Given the description of an element on the screen output the (x, y) to click on. 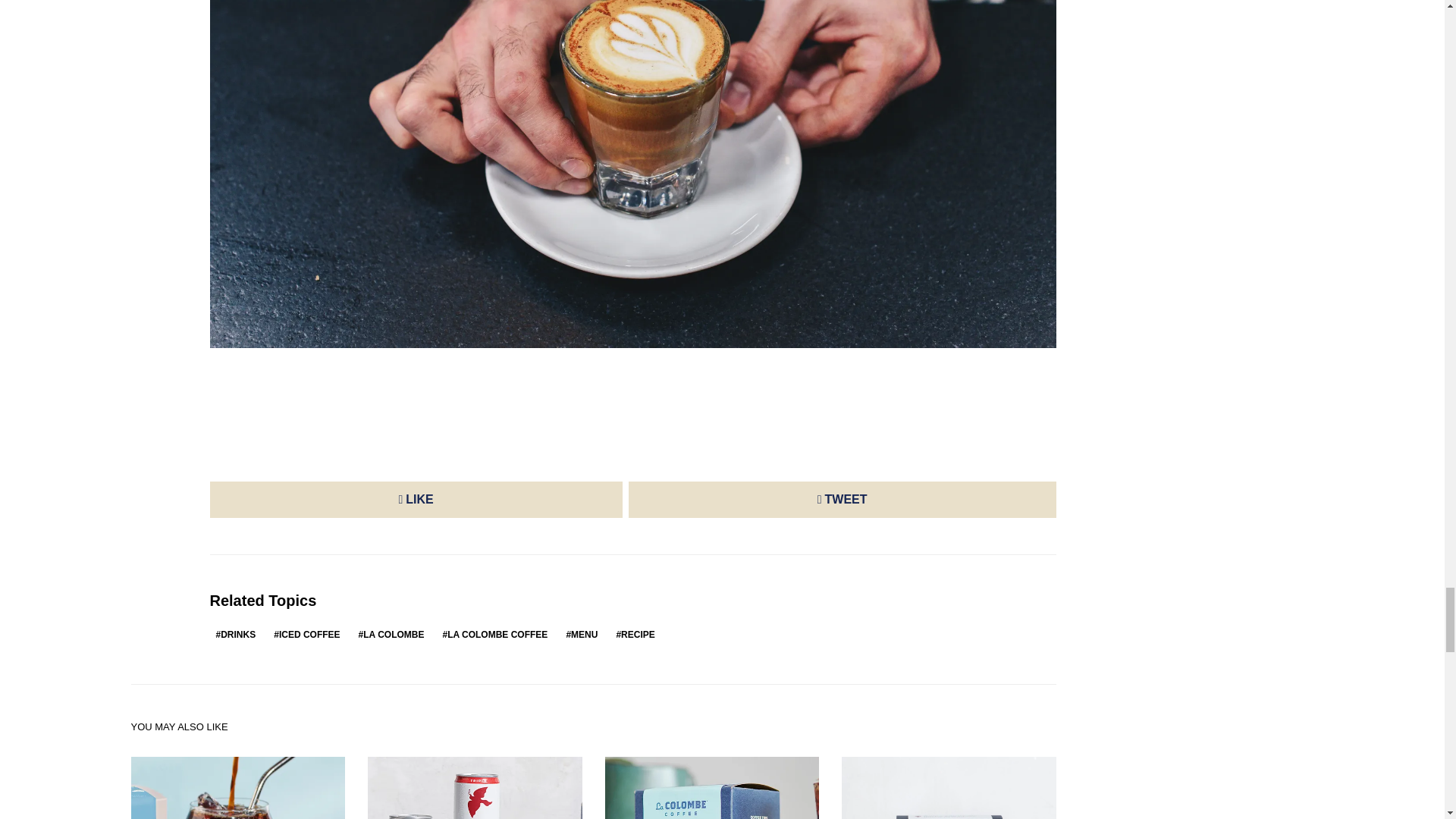
LA COLOMBE (391, 634)
DRINKS (235, 634)
TWEET (842, 499)
RECIPE (635, 634)
LIKE (415, 499)
MENU (581, 634)
LA COLOMBE COFFEE (494, 634)
ICED COFFEE (306, 634)
